Given the description of an element on the screen output the (x, y) to click on. 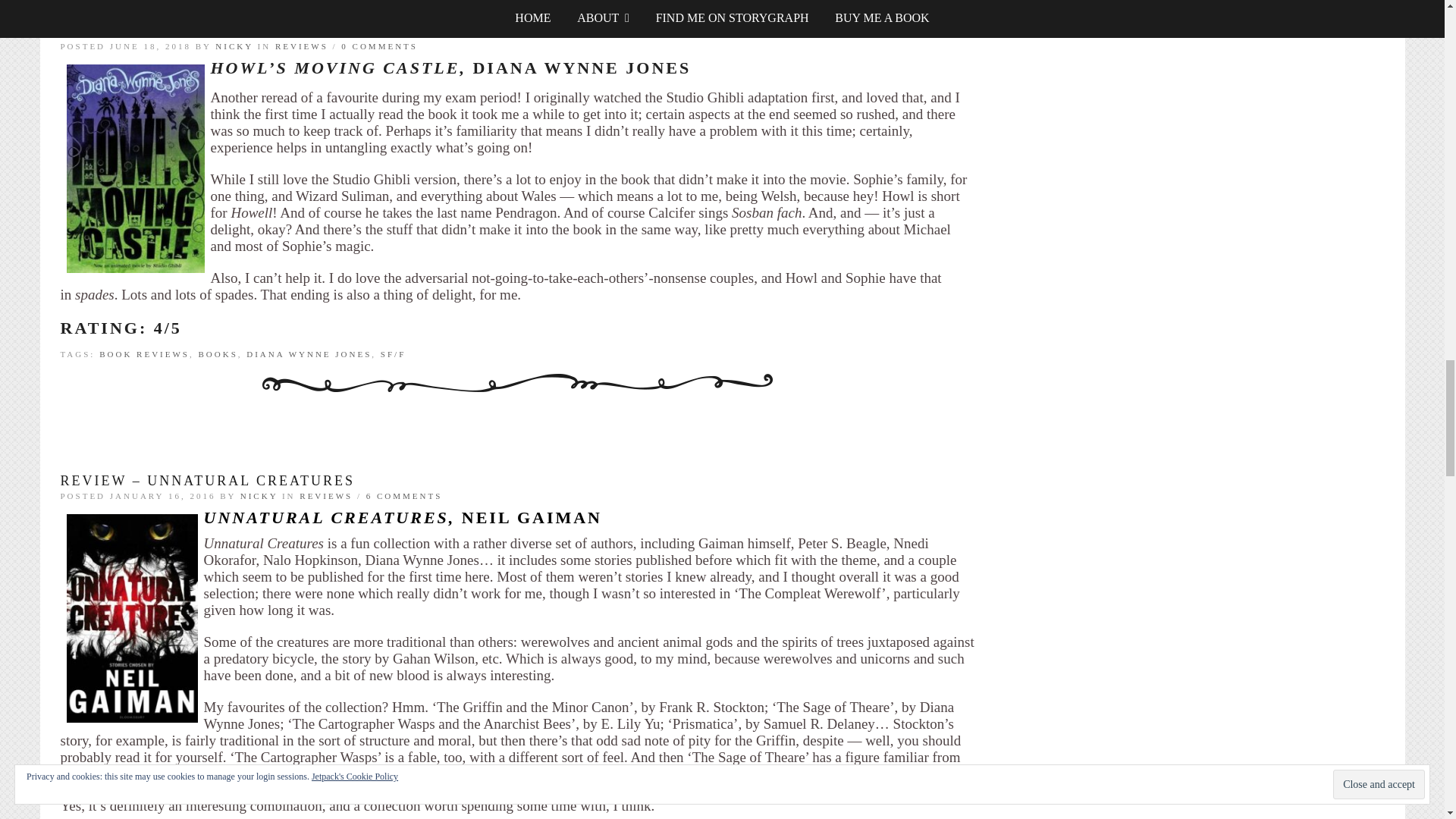
View all posts in Reviews (302, 45)
View all posts in Reviews (325, 495)
